Given the description of an element on the screen output the (x, y) to click on. 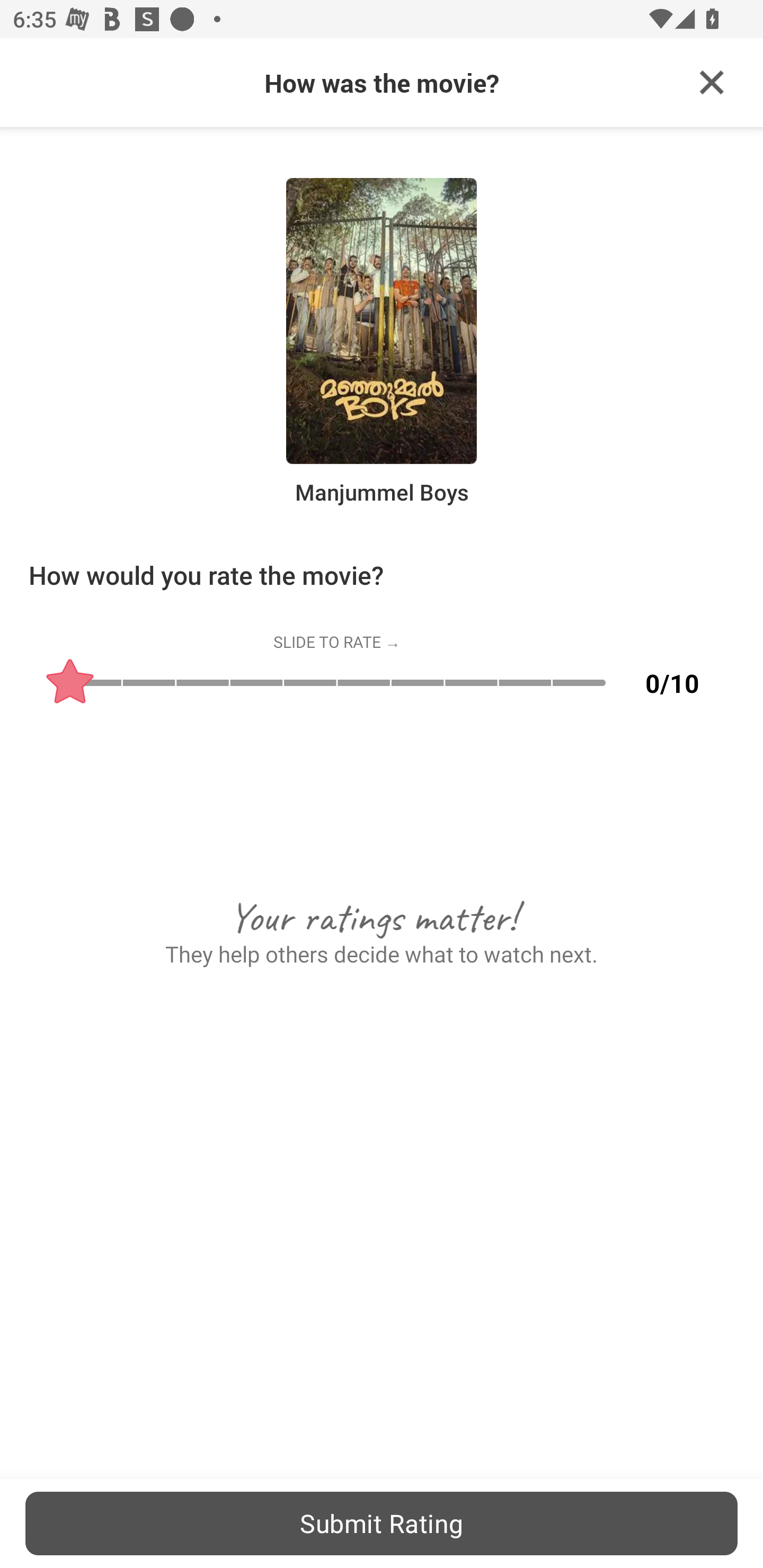
Close (711, 82)
Submit Rating (381, 1523)
